Given the description of an element on the screen output the (x, y) to click on. 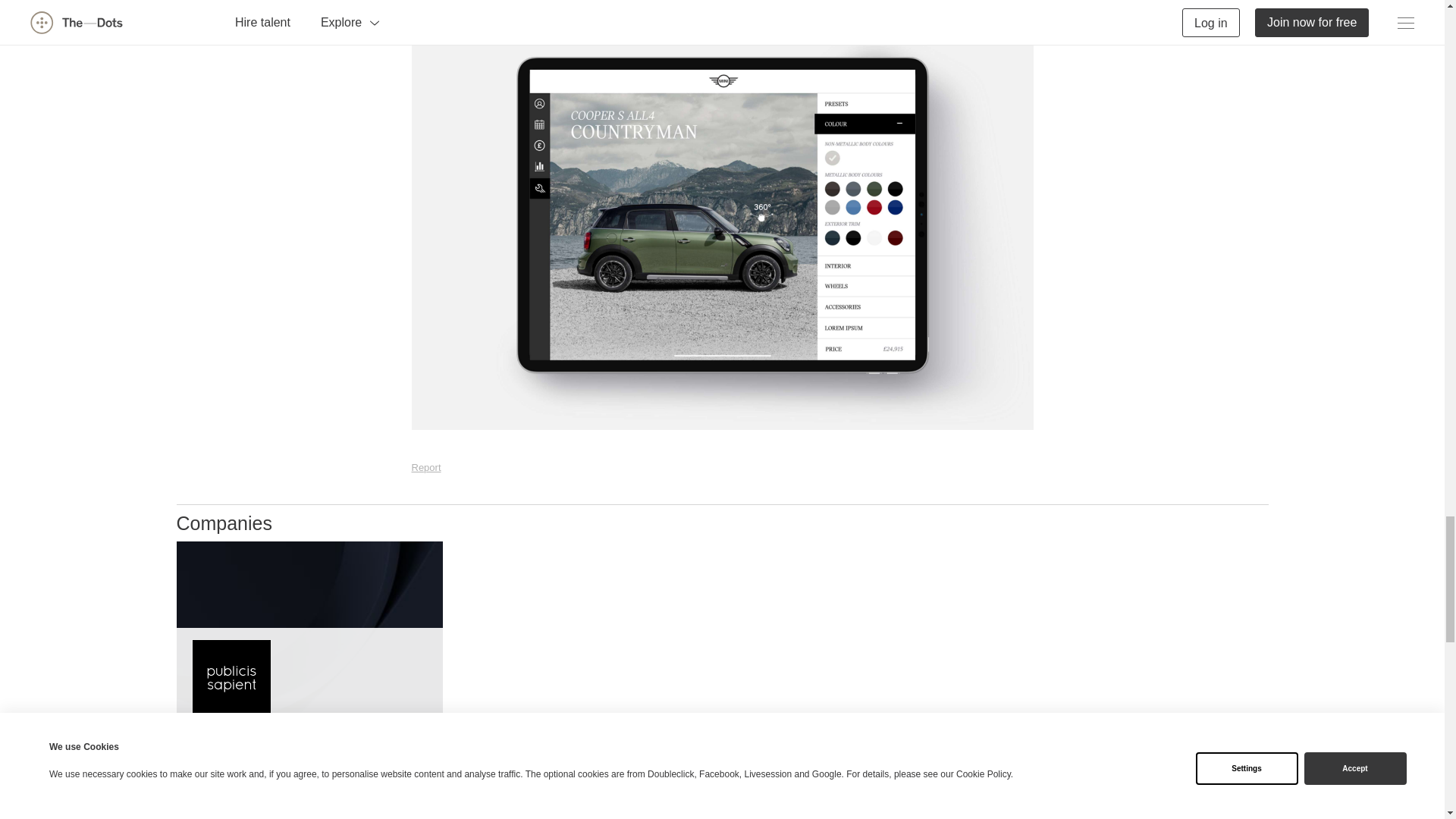
Follow (407, 753)
Report (425, 467)
